Given the description of an element on the screen output the (x, y) to click on. 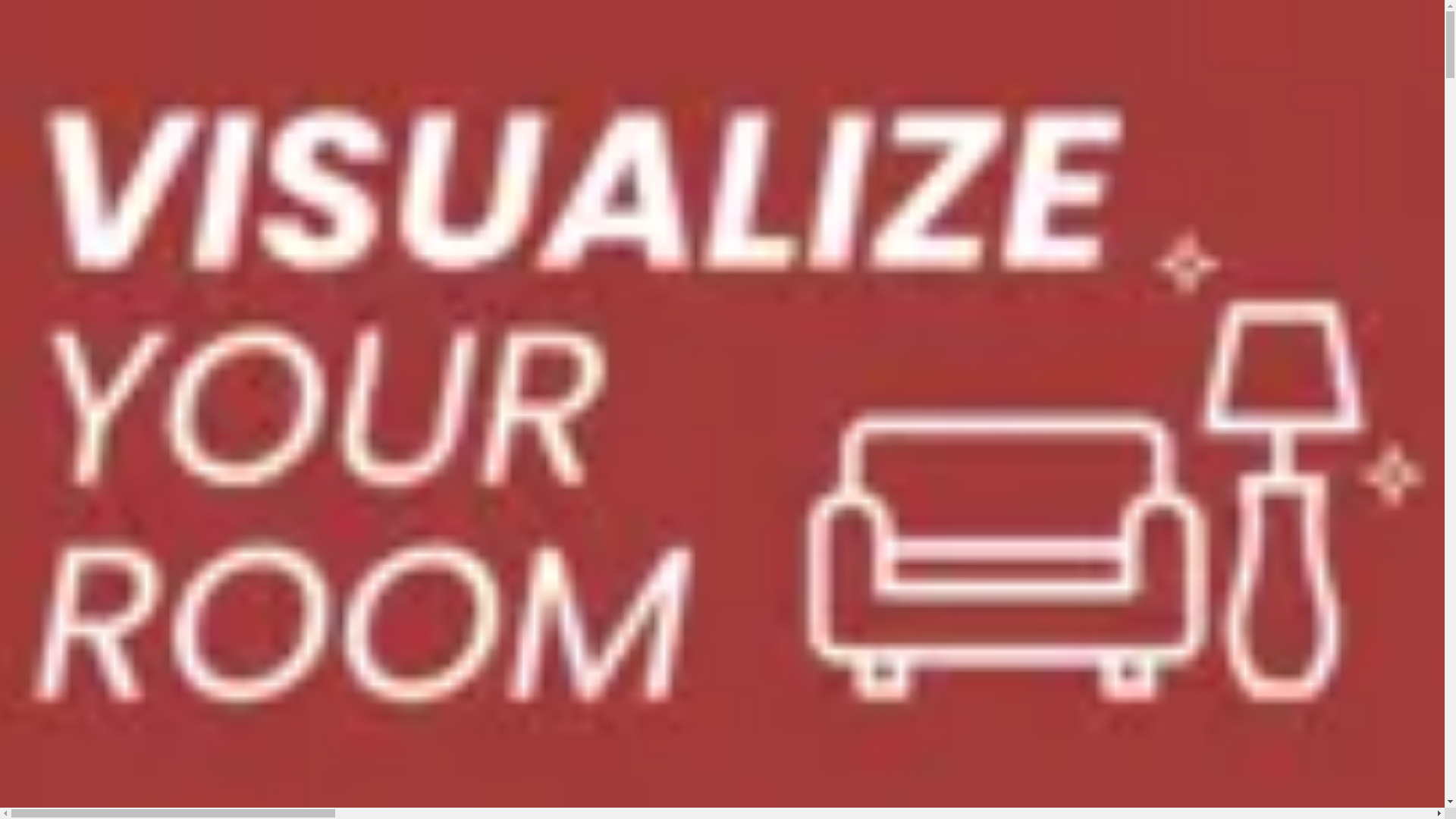
Catalog (113, 197)
Tile Leveling (252, 156)
Wall Tiles (60, 156)
Hi-res Building (219, 249)
Commercial (152, 249)
Blog (81, 197)
Office (106, 249)
Floor Tiles (111, 156)
